Given the description of an element on the screen output the (x, y) to click on. 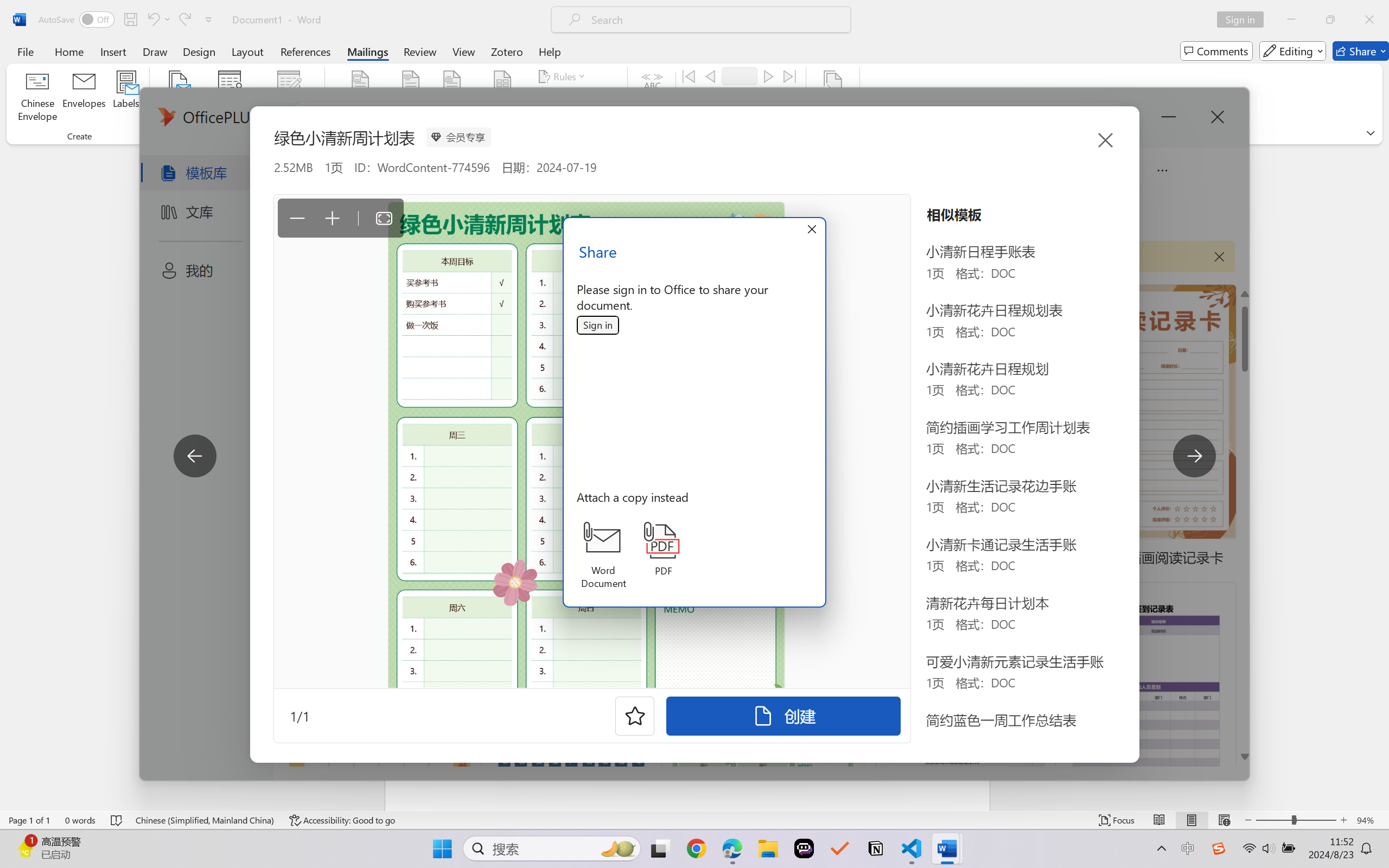
Next (768, 75)
Insert Merge Field (502, 97)
Record (739, 76)
